Given the description of an element on the screen output the (x, y) to click on. 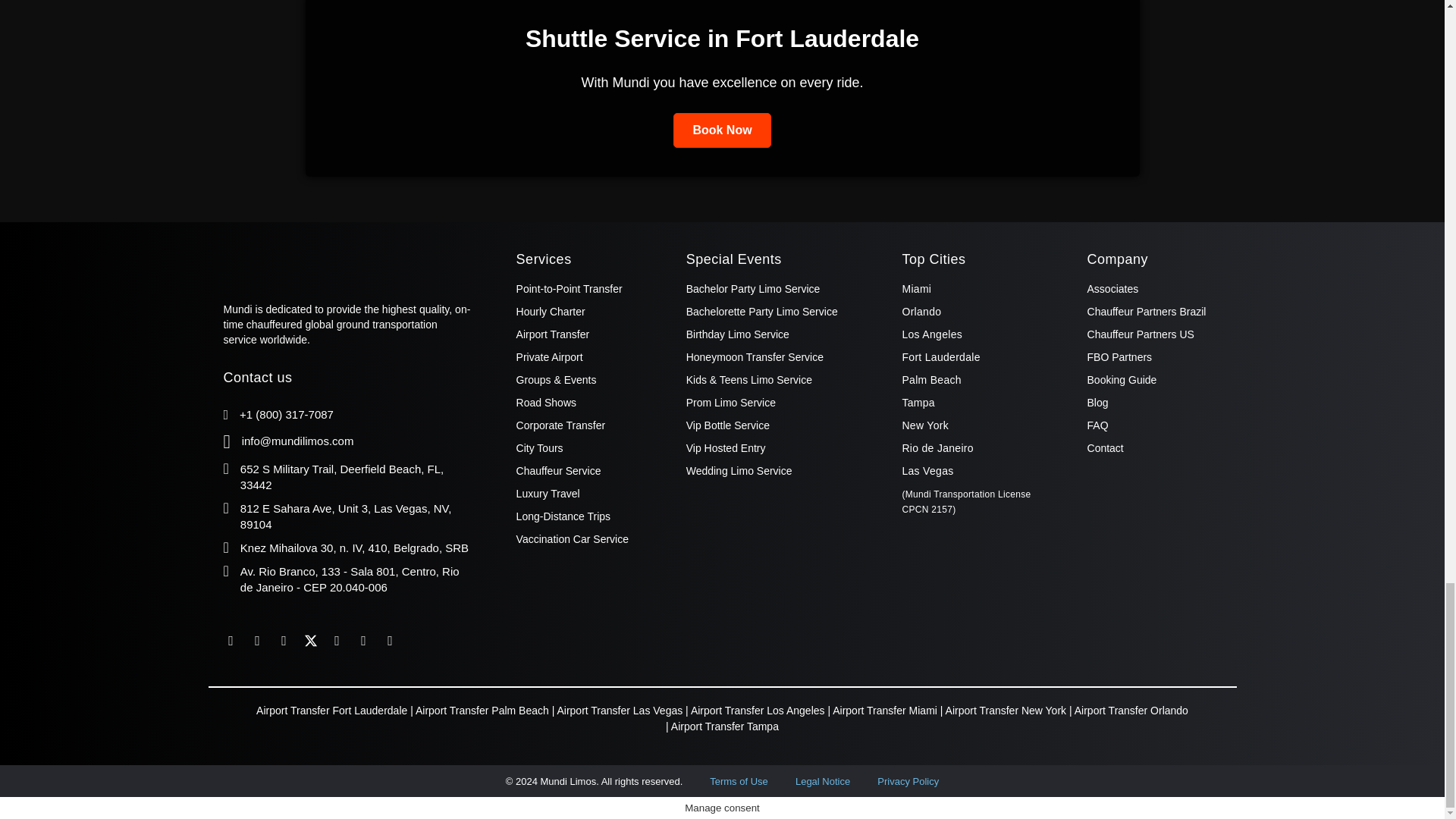
812 E Sahara Ave, Unit 3, Las Vegas, NV, 89104 (345, 516)
Knez Mihailova 30, n. IV, 410, Belgrado, SRB (354, 547)
Logo Mundi (298, 261)
652 S Military Trail, Deerfield Beach, FL, 33442 (342, 476)
Facebook Mundi Limos (230, 640)
Linkedin Mundi Luxury Transportation (257, 640)
Instagram Mundi Limousine Florida (283, 640)
Book Now (721, 130)
